Given the description of an element on the screen output the (x, y) to click on. 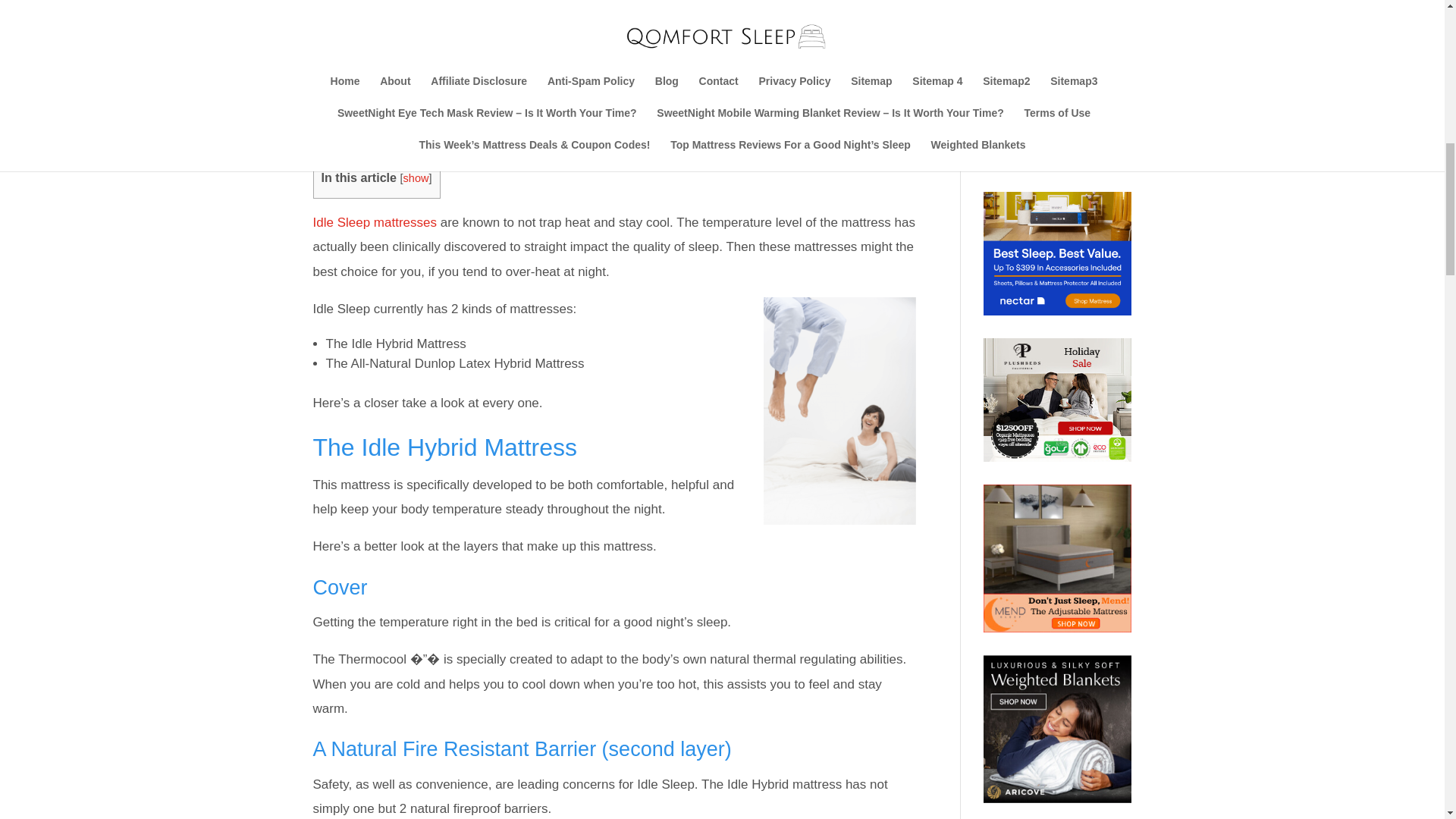
show (416, 177)
